Given the description of an element on the screen output the (x, y) to click on. 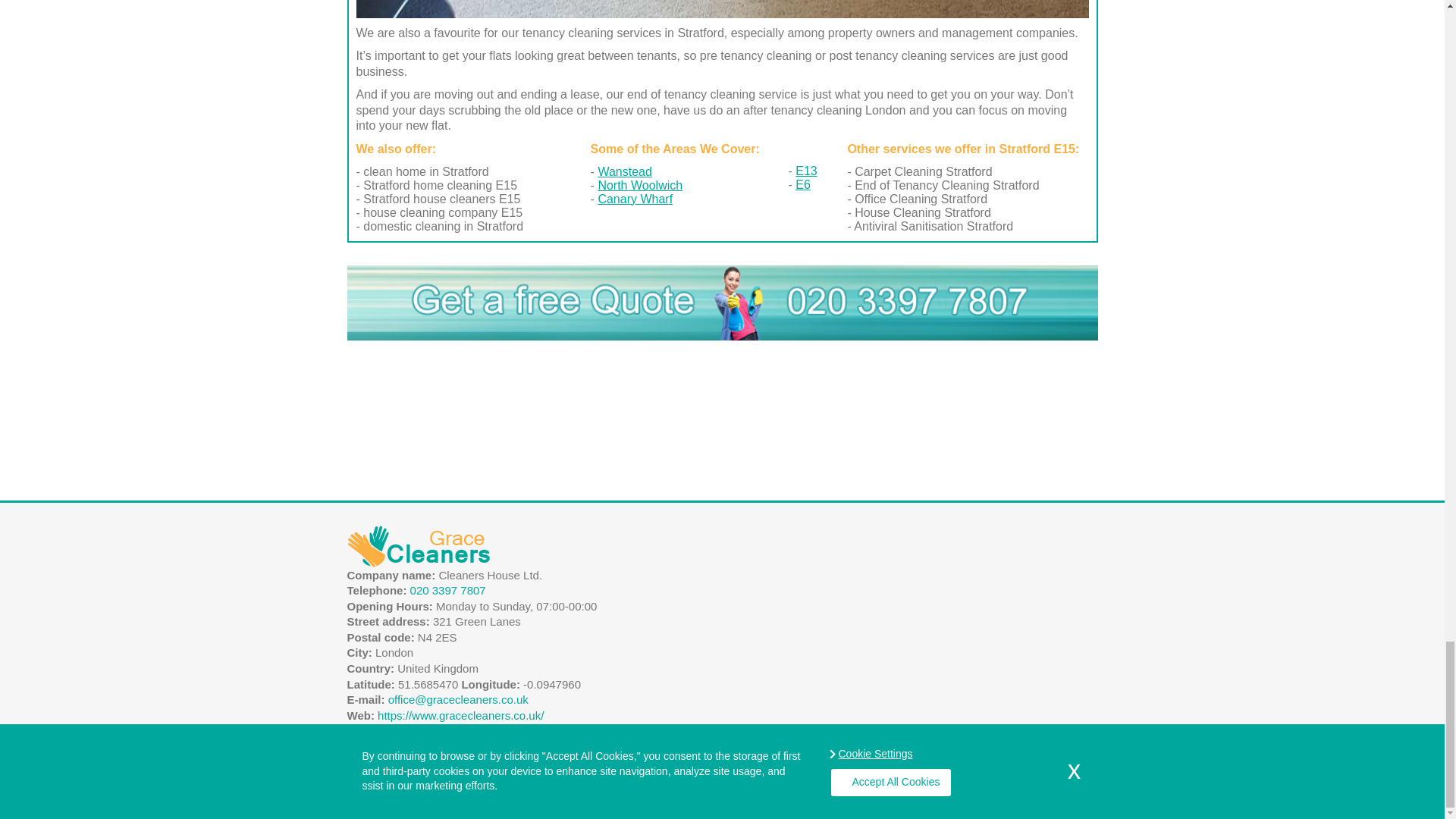
Sitemap (1076, 804)
E16 North Woolwich (639, 185)
Send E-mail (458, 698)
E11 Wanstead (623, 171)
Find us at Facebook (357, 768)
North Woolwich (639, 185)
E14 Canary Wharf (634, 198)
West Ham E13 (805, 170)
Wanstead (623, 171)
020 3397 7807 (448, 590)
